Given the description of an element on the screen output the (x, y) to click on. 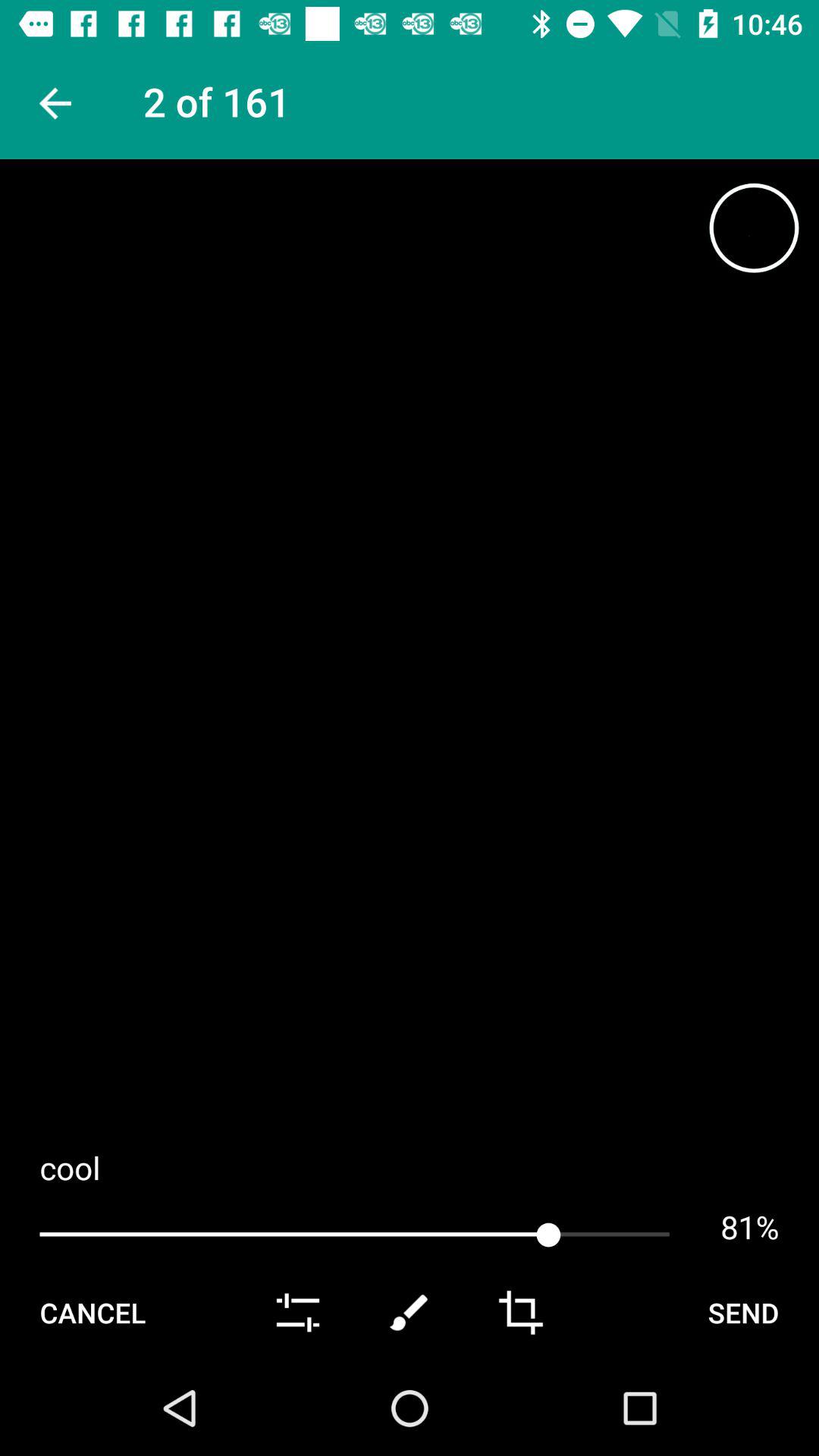
open item at the top right corner (754, 228)
